Given the description of an element on the screen output the (x, y) to click on. 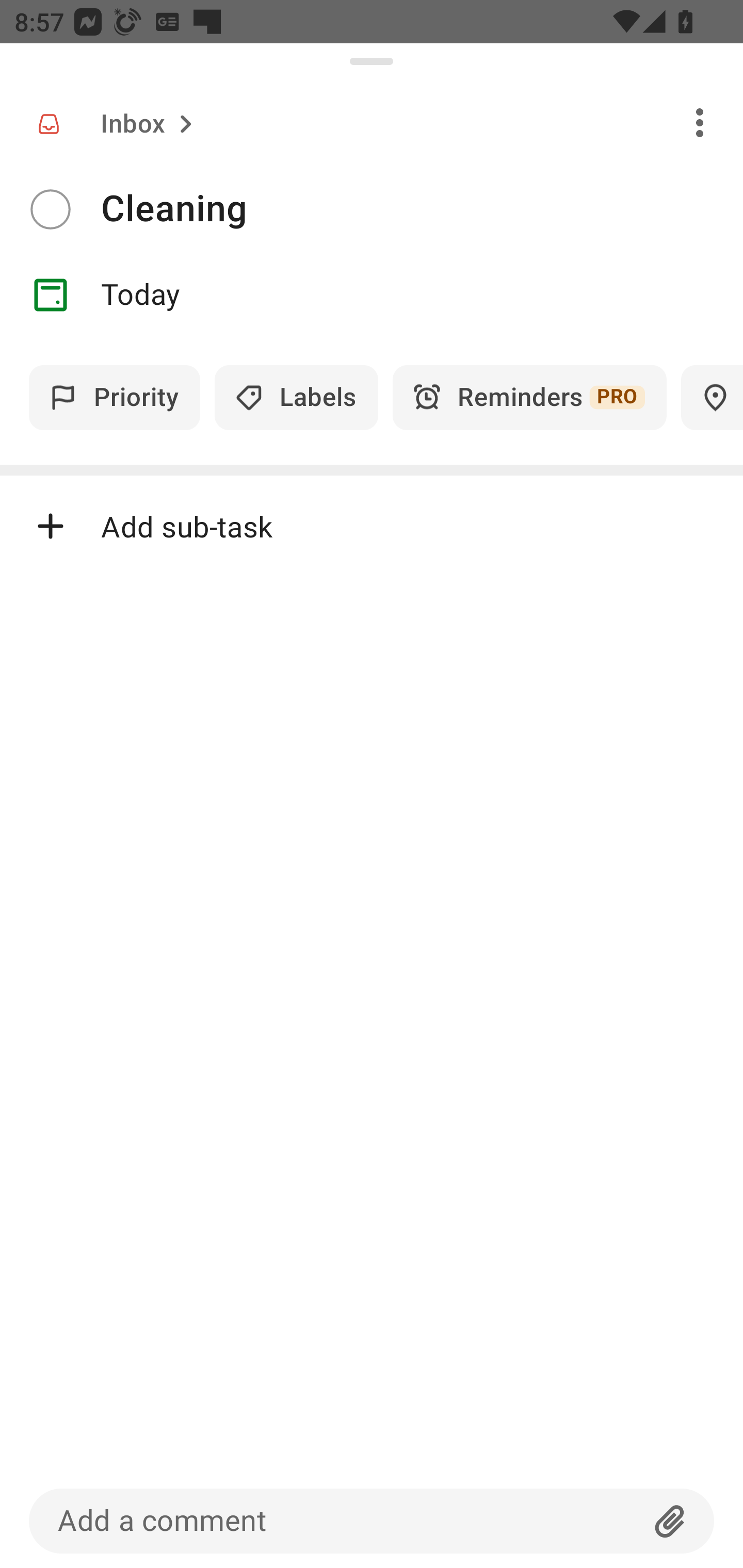
Overflow menu (699, 122)
Complete (50, 209)
Cleaning​ (422, 209)
Date Today (371, 295)
Priority (113, 397)
Labels (296, 397)
Reminders PRO (529, 397)
Locations PRO (712, 397)
Add sub-task (371, 525)
Add a comment Attachment (371, 1520)
Attachment (670, 1520)
